Given the description of an element on the screen output the (x, y) to click on. 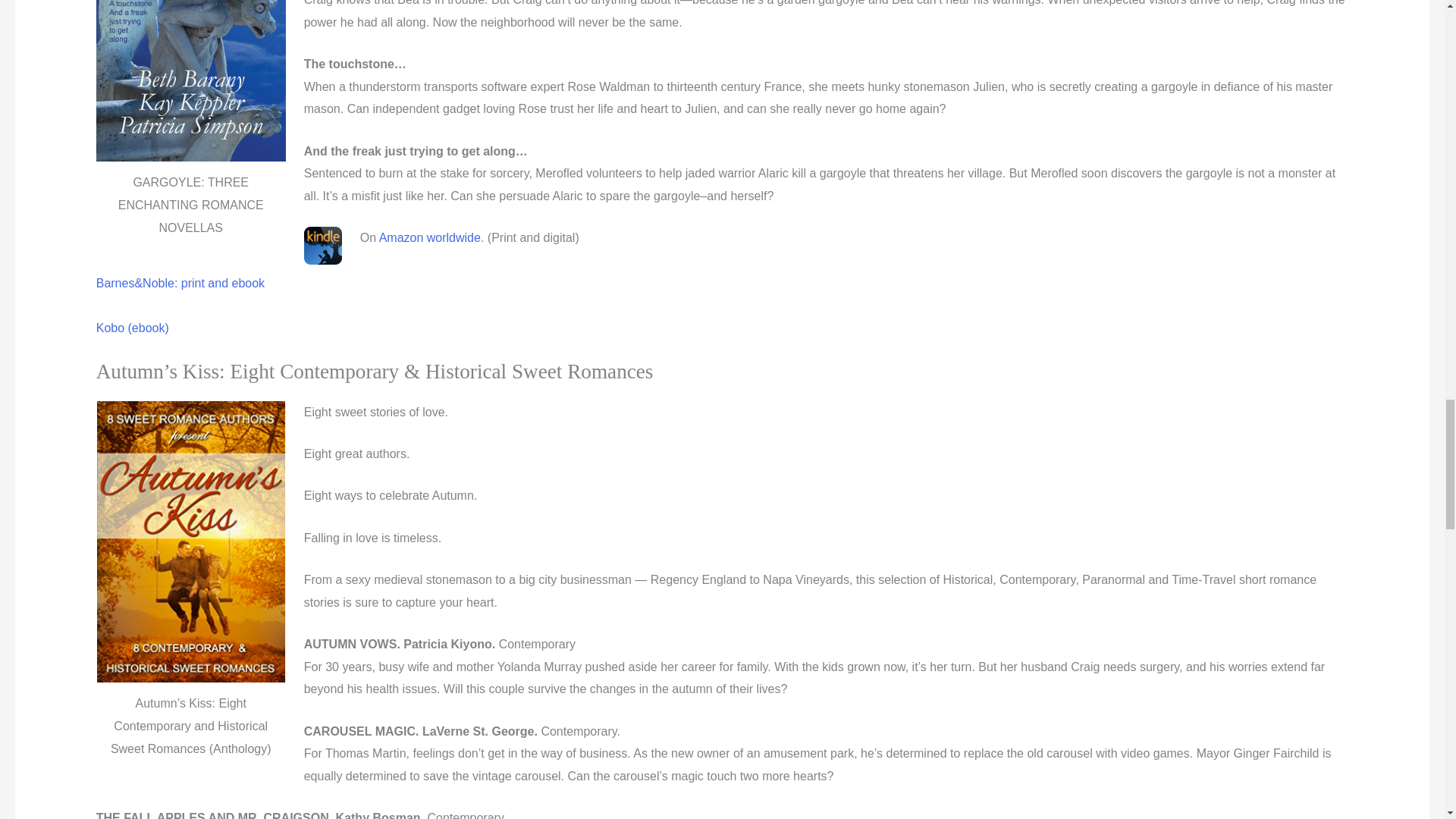
gargoyle: three enchanting romance novellas (429, 237)
